Given the description of an element on the screen output the (x, y) to click on. 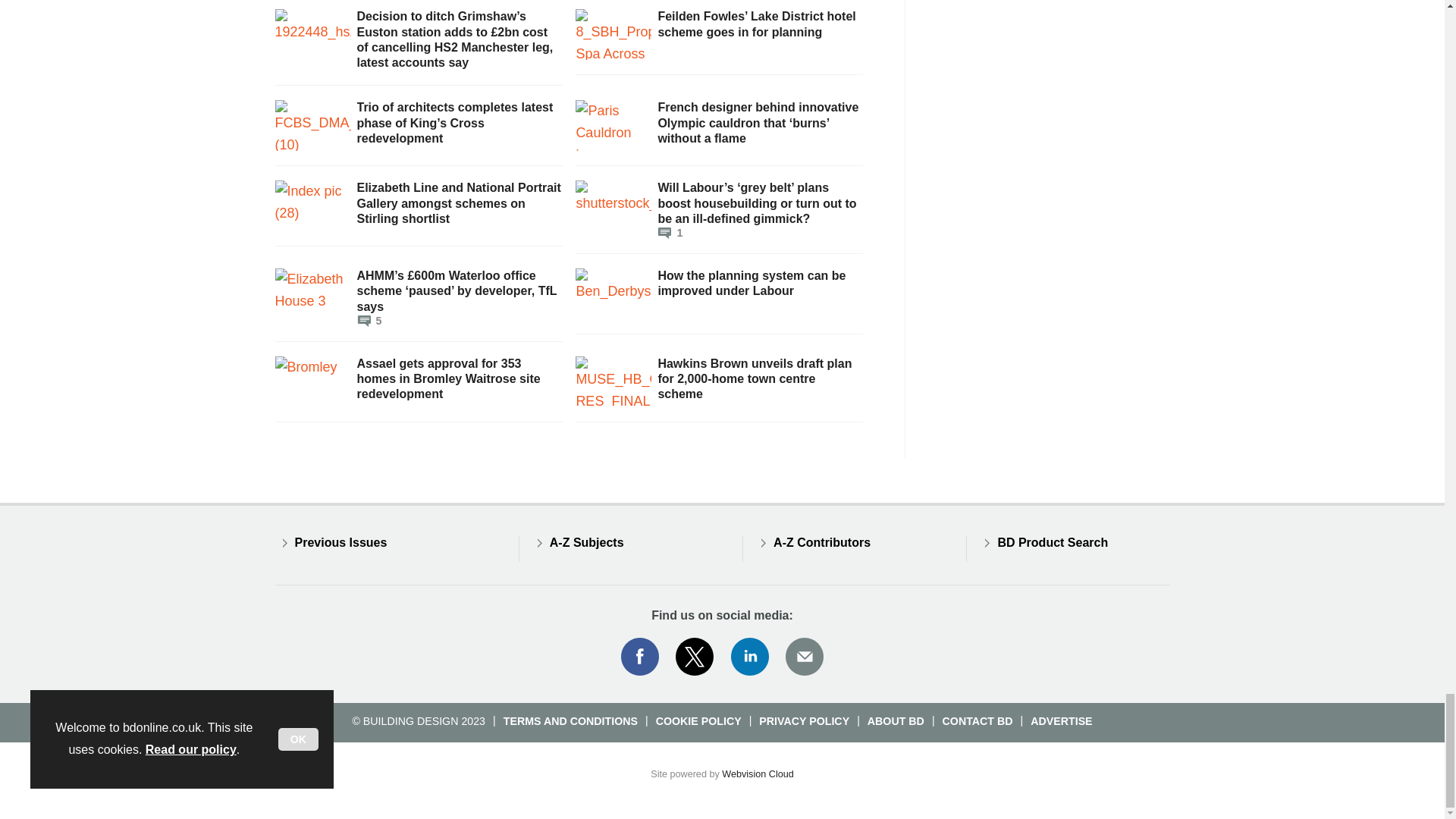
Connect with us on Linked in (750, 656)
Connect with us on Facebook (639, 656)
Email us (804, 656)
Connect with us on Twitter (694, 656)
